Given the description of an element on the screen output the (x, y) to click on. 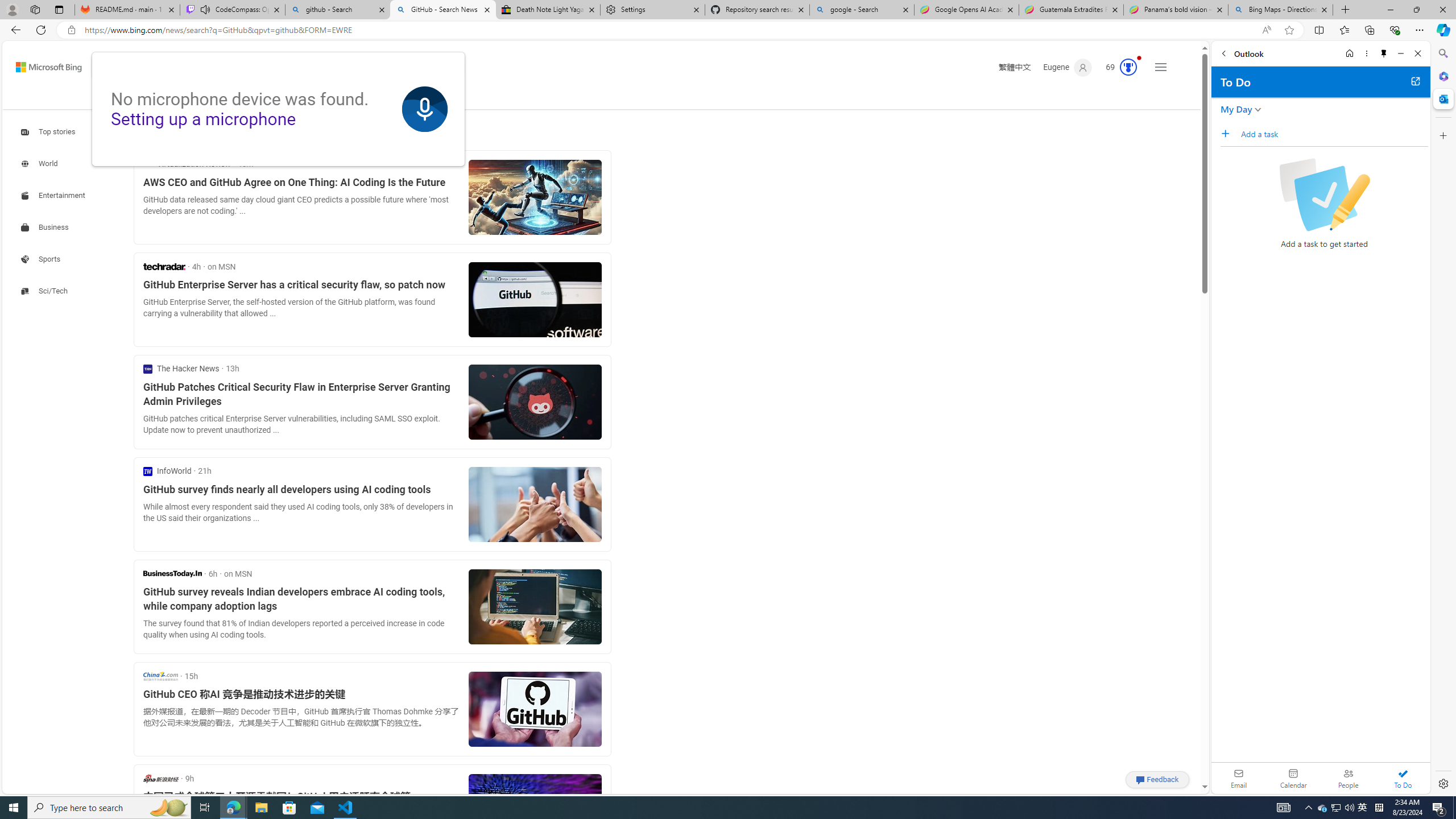
Stop listening (425, 109)
SEARCH (124, 96)
More options (1366, 53)
NEWS (350, 96)
Google Opens AI Academy for Startups - Nearshore Americas (966, 9)
Unpin side pane (1383, 53)
Any time (163, 132)
MORE (395, 98)
SEARCH (124, 96)
Setting up a microphone (203, 118)
Add a task (1228, 133)
Search news about World (40, 163)
